Given the description of an element on the screen output the (x, y) to click on. 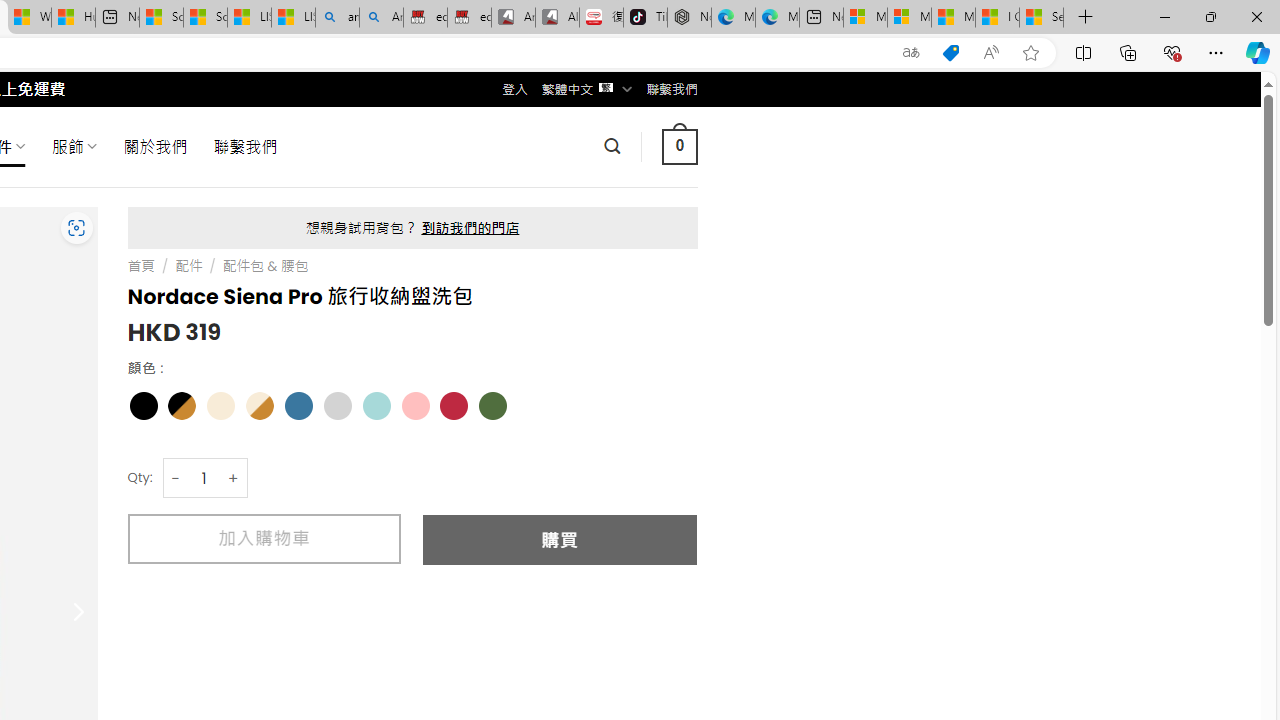
amazon - Search (337, 17)
Microsoft account | Privacy (909, 17)
New tab (821, 17)
 0  (679, 146)
This site has coupons! Shopping in Microsoft Edge (950, 53)
I Gained 20 Pounds of Muscle in 30 Days! | Watch (996, 17)
Close (1256, 16)
Browser essentials (1171, 52)
